Given the description of an element on the screen output the (x, y) to click on. 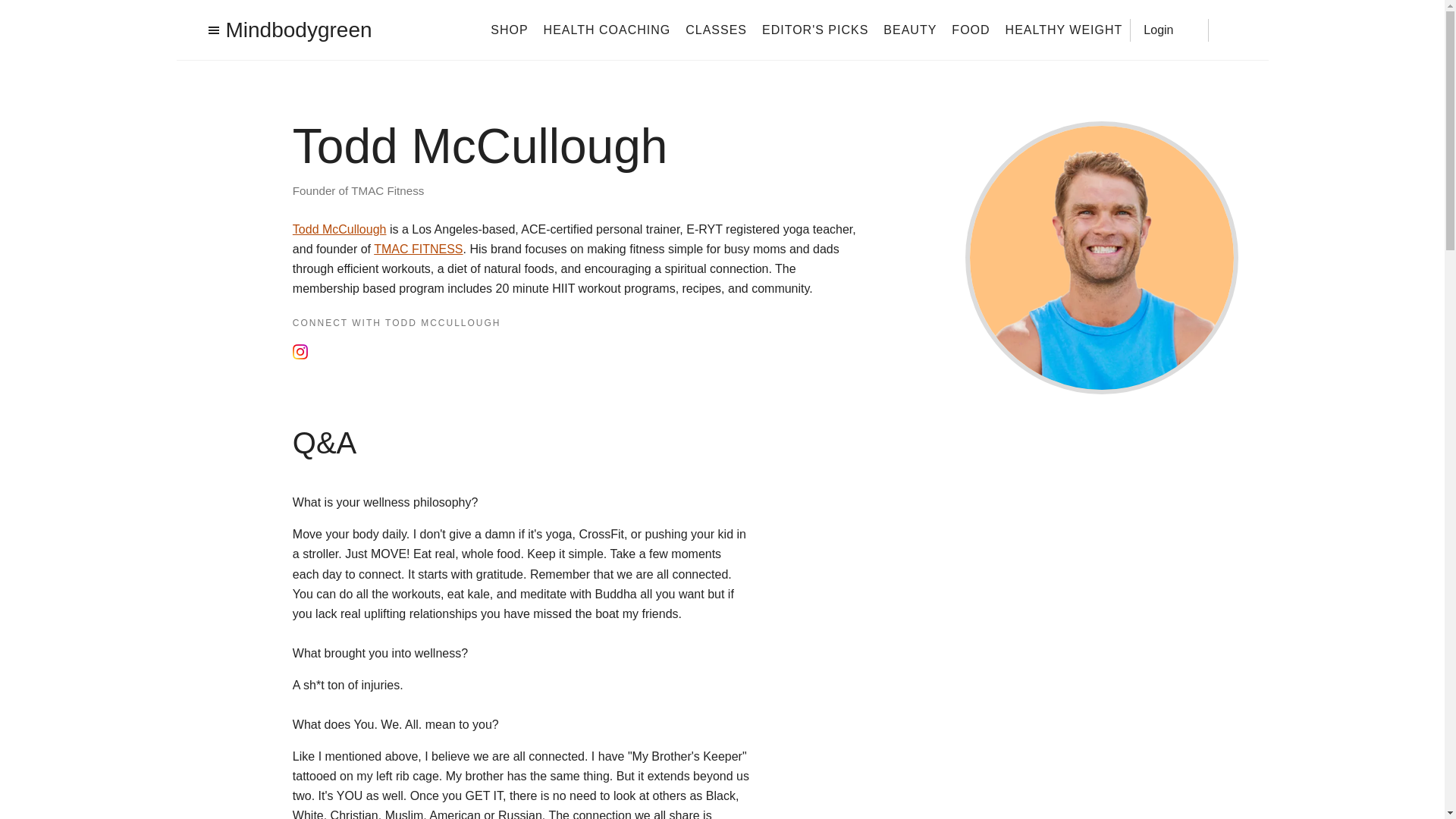
Search (1230, 29)
TMAC FITNESS (418, 248)
Visit Todd McCullough on facebook (333, 351)
HEALTHY WEIGHT (1064, 29)
Visit Todd McCullough on website (401, 351)
Login (1168, 29)
SHOP (508, 29)
Visit Todd McCullough on twitter (367, 351)
Visit Todd McCullough on website (392, 352)
Todd McCullough (339, 228)
